Given the description of an element on the screen output the (x, y) to click on. 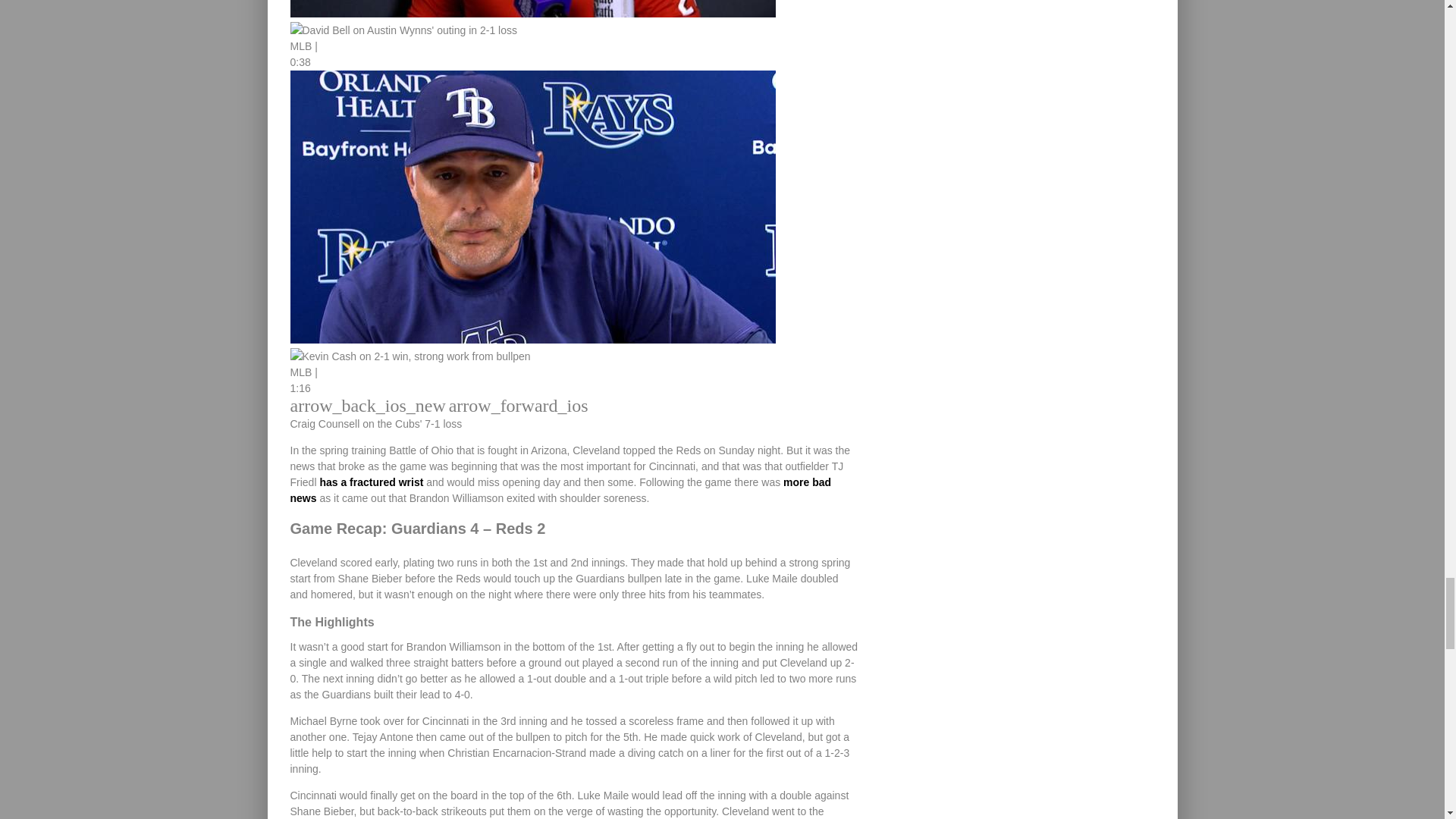
has a fractured wrist (370, 481)
more bad news (560, 489)
